Given the description of an element on the screen output the (x, y) to click on. 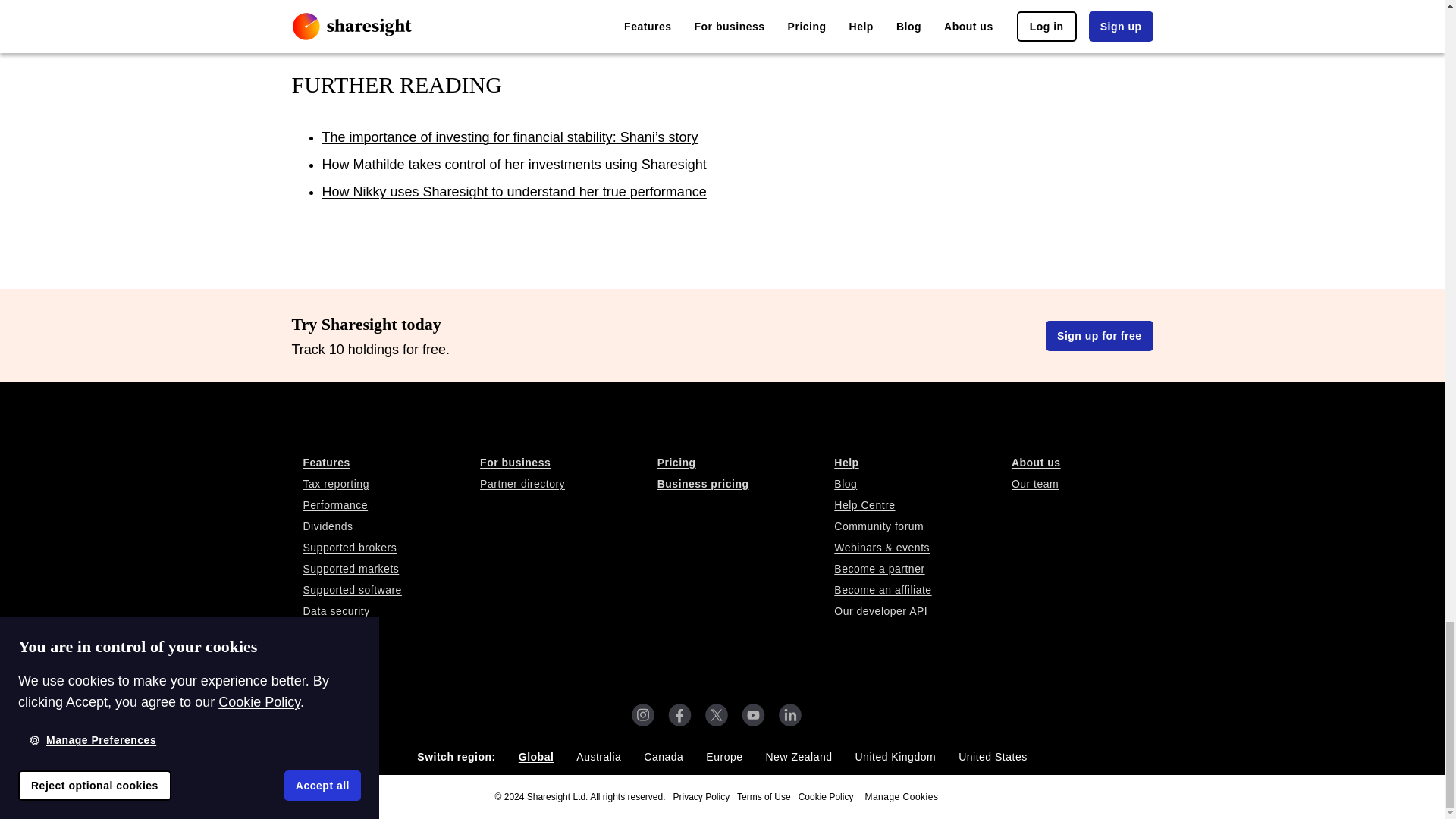
Supported brokers (385, 547)
How Nikky uses Sharesight to understand her true performance (513, 191)
Sign up to Sharesight for free (1099, 336)
